Given the description of an element on the screen output the (x, y) to click on. 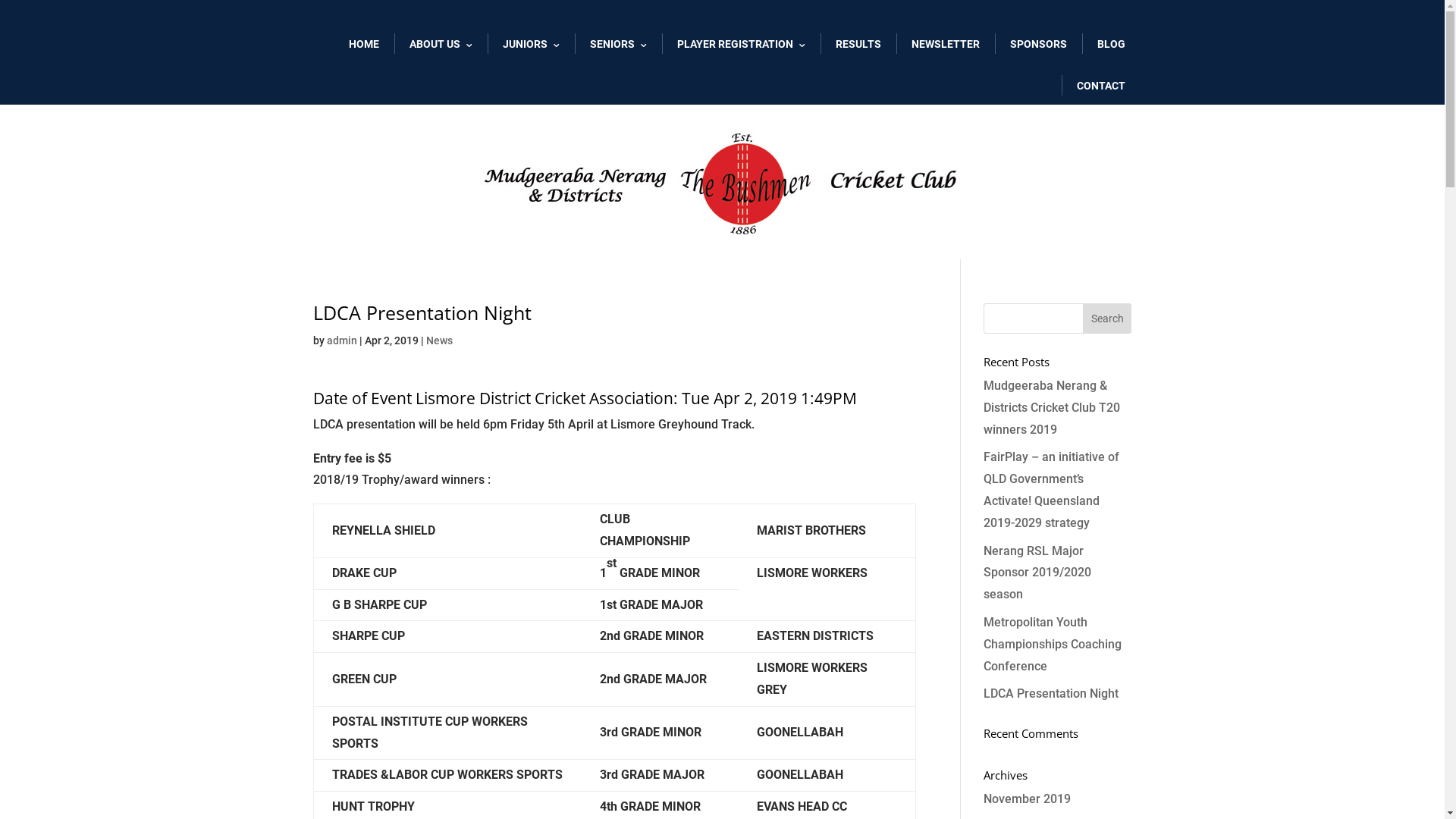
RESULTS Element type: text (858, 43)
News Element type: text (439, 340)
SENIORS Element type: text (618, 43)
admin Element type: text (341, 340)
BLOG Element type: text (1110, 43)
ABOUT US Element type: text (440, 43)
CONTACT Element type: text (1100, 85)
Mudgeeraba Nerang & Districts Cricket Club T20 winners 2019 Element type: text (1051, 407)
Search Element type: text (1107, 318)
Metropolitan Youth Championships Coaching Conference Element type: text (1052, 644)
JUNIORS Element type: text (530, 43)
PLAYER REGISTRATION Element type: text (740, 43)
Nerang RSL Major Sponsor 2019/2020 season Element type: text (1037, 572)
November 2019 Element type: text (1026, 798)
LDCA Presentation Night Element type: text (1050, 693)
NEWSLETTER Element type: text (945, 43)
SPONSORS Element type: text (1038, 43)
HOME Element type: text (363, 43)
